Given the description of an element on the screen output the (x, y) to click on. 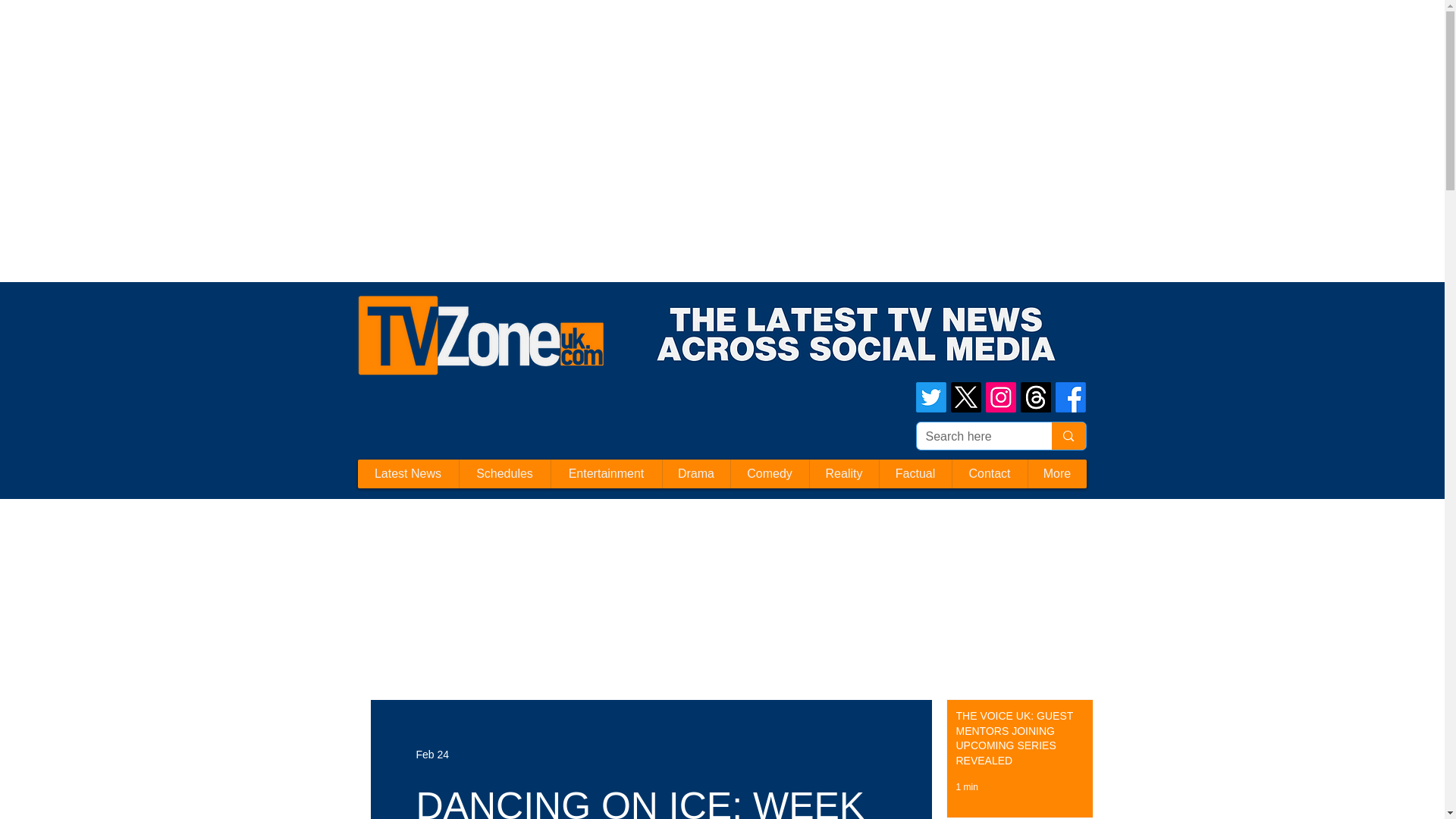
Feb 24 (431, 753)
Contact (988, 473)
Reality (842, 473)
1 min (965, 787)
Comedy (768, 473)
Schedules (504, 473)
Factual (913, 473)
THE VOICE UK: GUEST MENTORS JOINING UPCOMING SERIES REVEALED (1014, 741)
Latest News (408, 473)
Drama (695, 473)
